Given the description of an element on the screen output the (x, y) to click on. 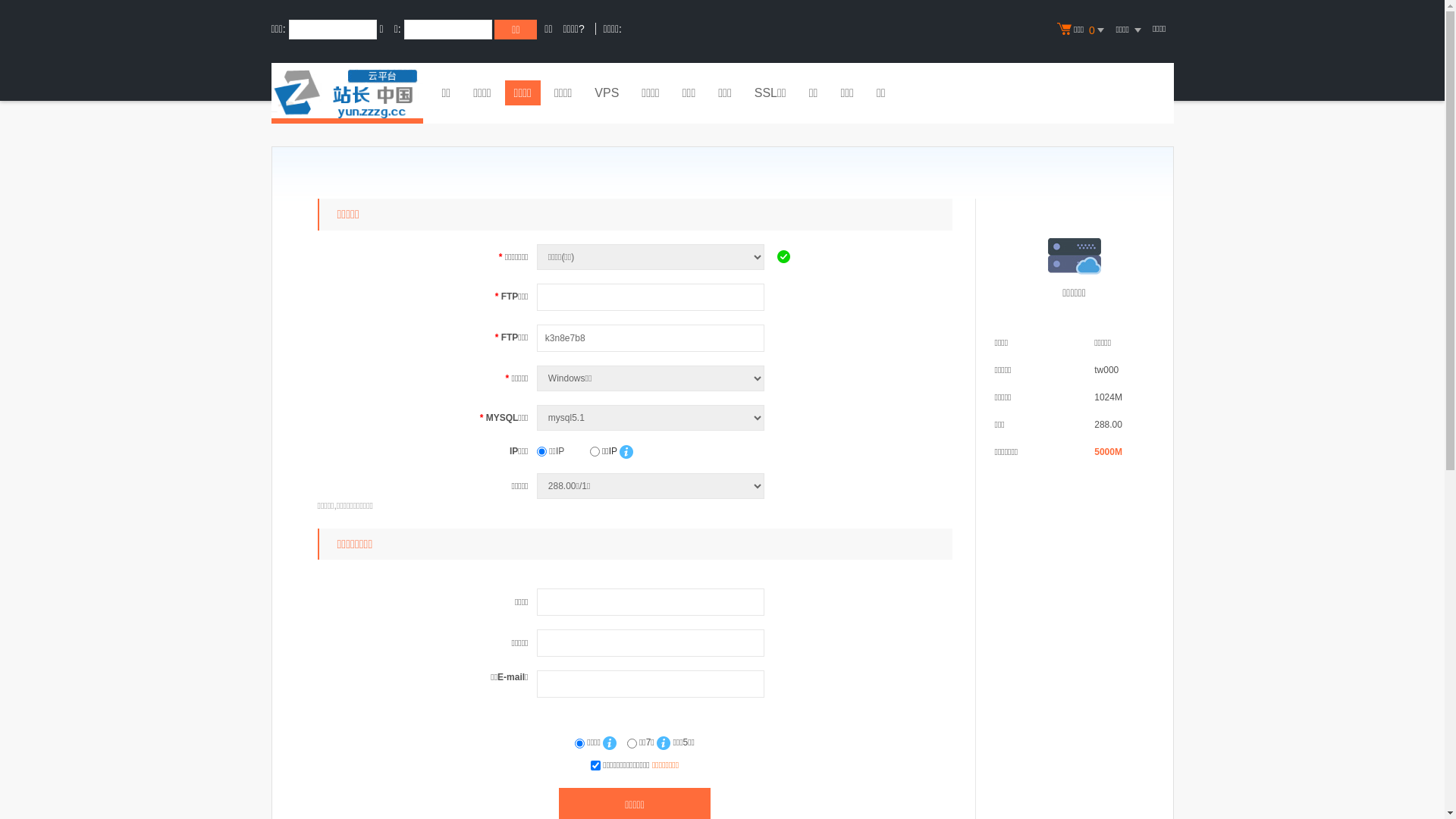
VPS Element type: text (606, 94)
